Given the description of an element on the screen output the (x, y) to click on. 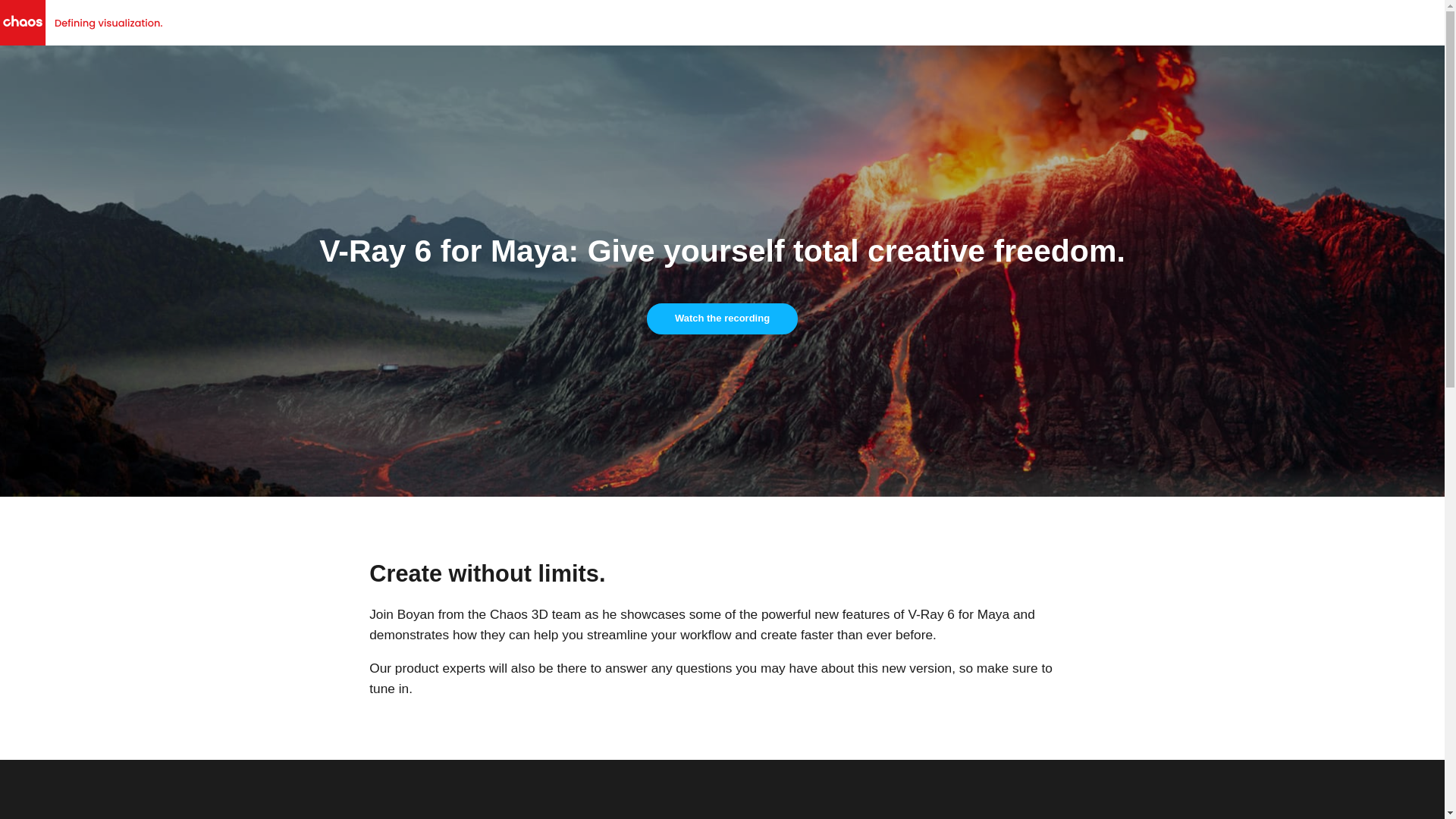
Watch the recording (721, 318)
